Given the description of an element on the screen output the (x, y) to click on. 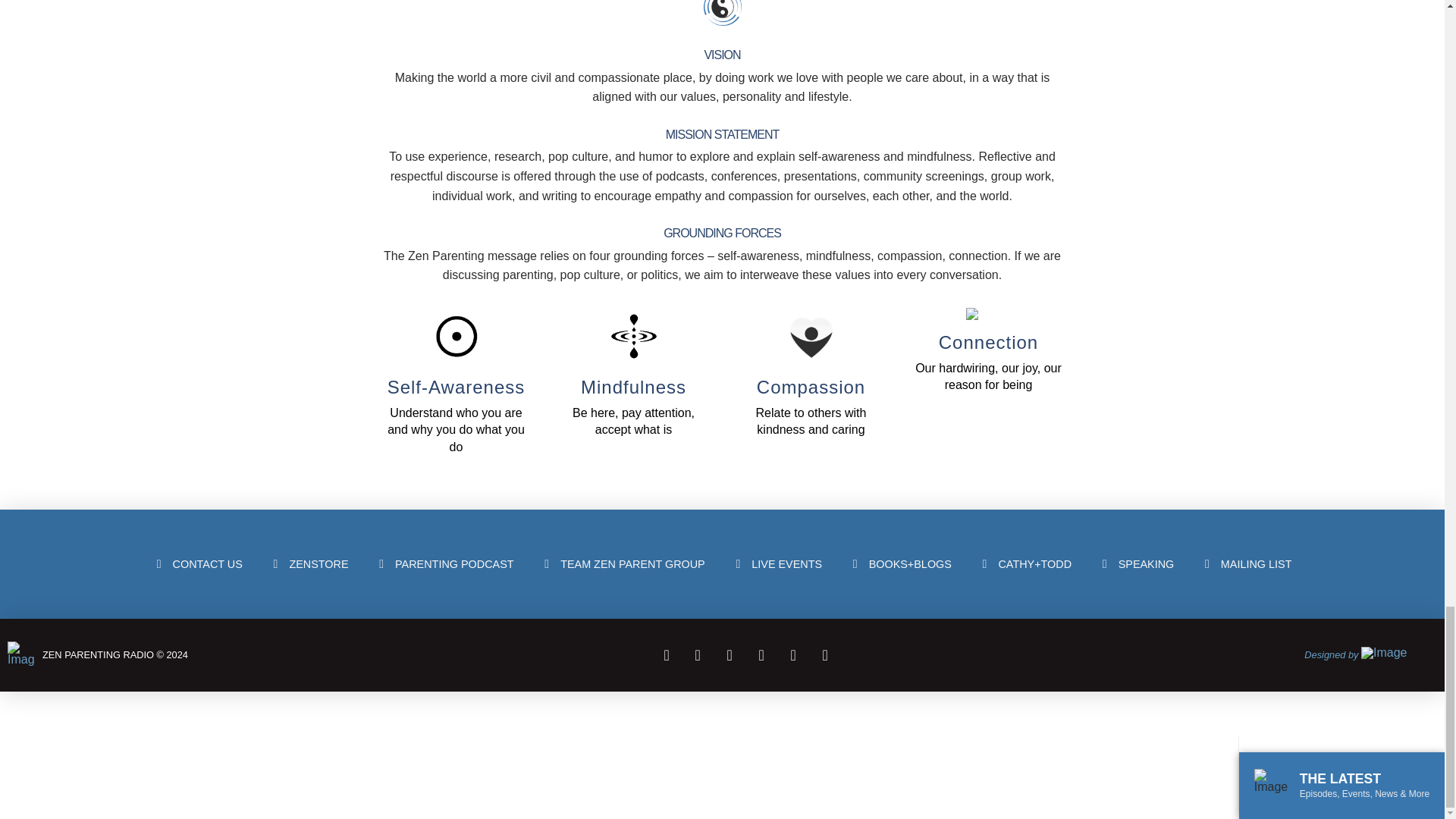
TEAM ZEN PARENT GROUP (622, 564)
LIVE EVENTS (777, 564)
SPEAKING (1136, 564)
MAILING LIST (1246, 564)
PARENTING PODCAST (444, 564)
ZENSTORE (309, 564)
CONTACT US (197, 564)
